Given the description of an element on the screen output the (x, y) to click on. 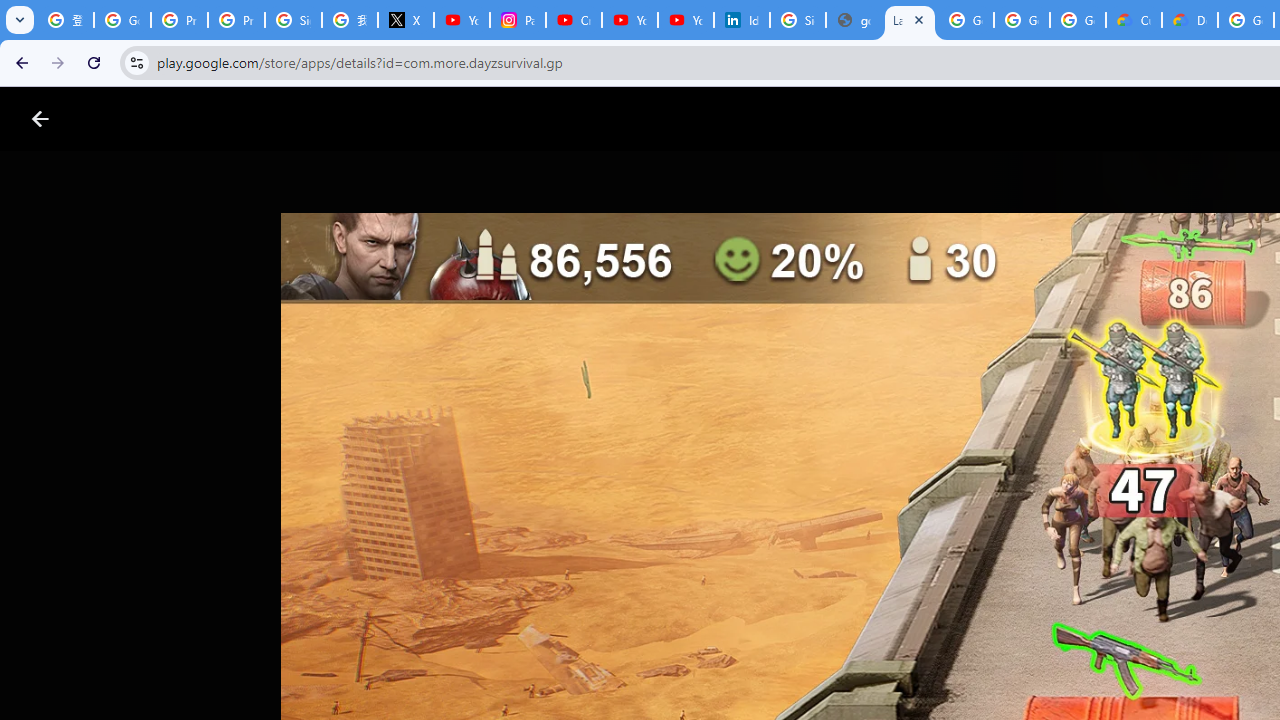
Games (248, 119)
Customer Care | Google Cloud (1133, 20)
YouTube Culture & Trends - YouTube Top 10, 2021 (685, 20)
Apps (321, 119)
YouTube Content Monetization Policies - How YouTube Works (461, 20)
